Given the description of an element on the screen output the (x, y) to click on. 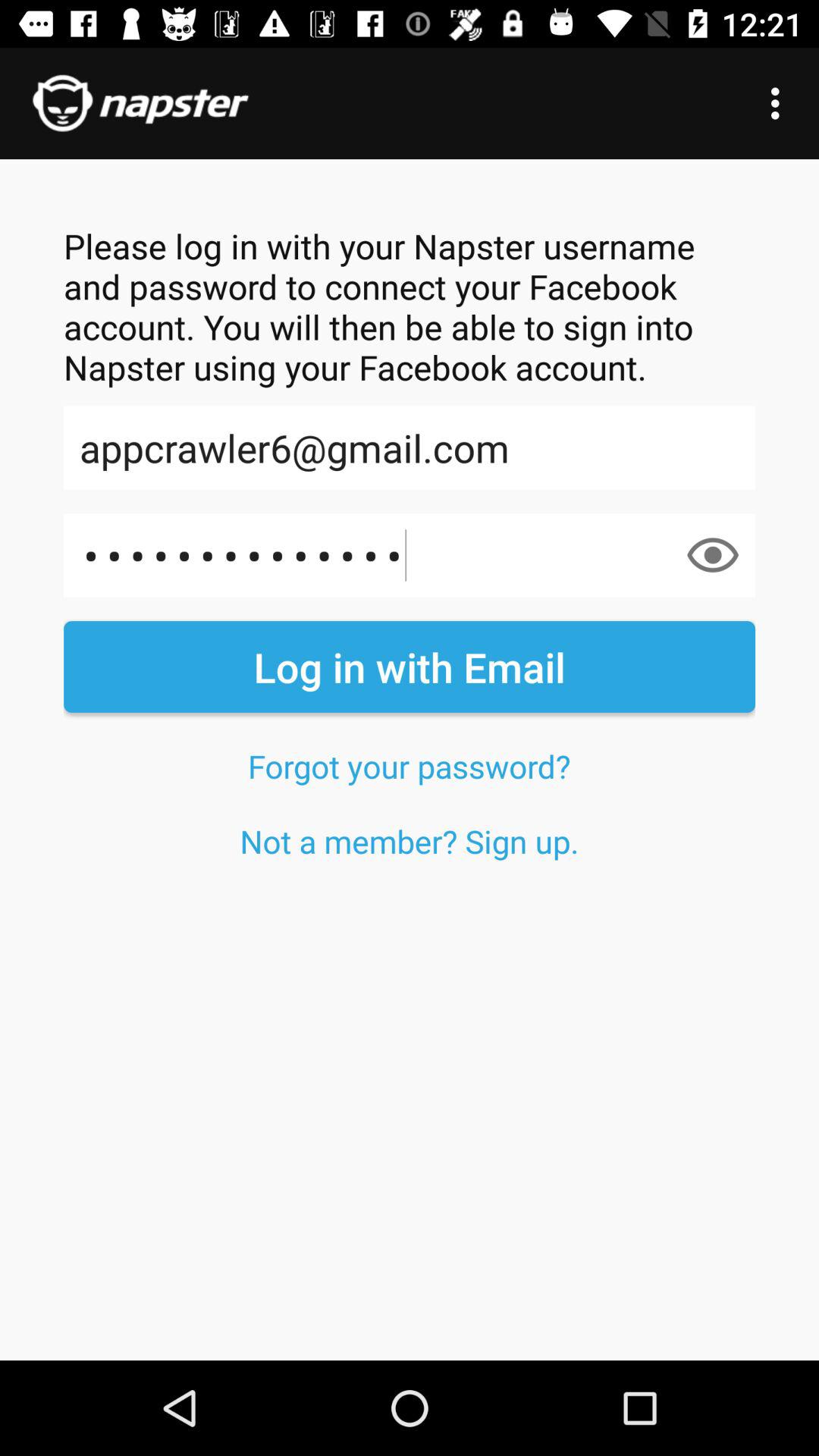
scroll to the appcrawler6@gmail.com icon (409, 447)
